Given the description of an element on the screen output the (x, y) to click on. 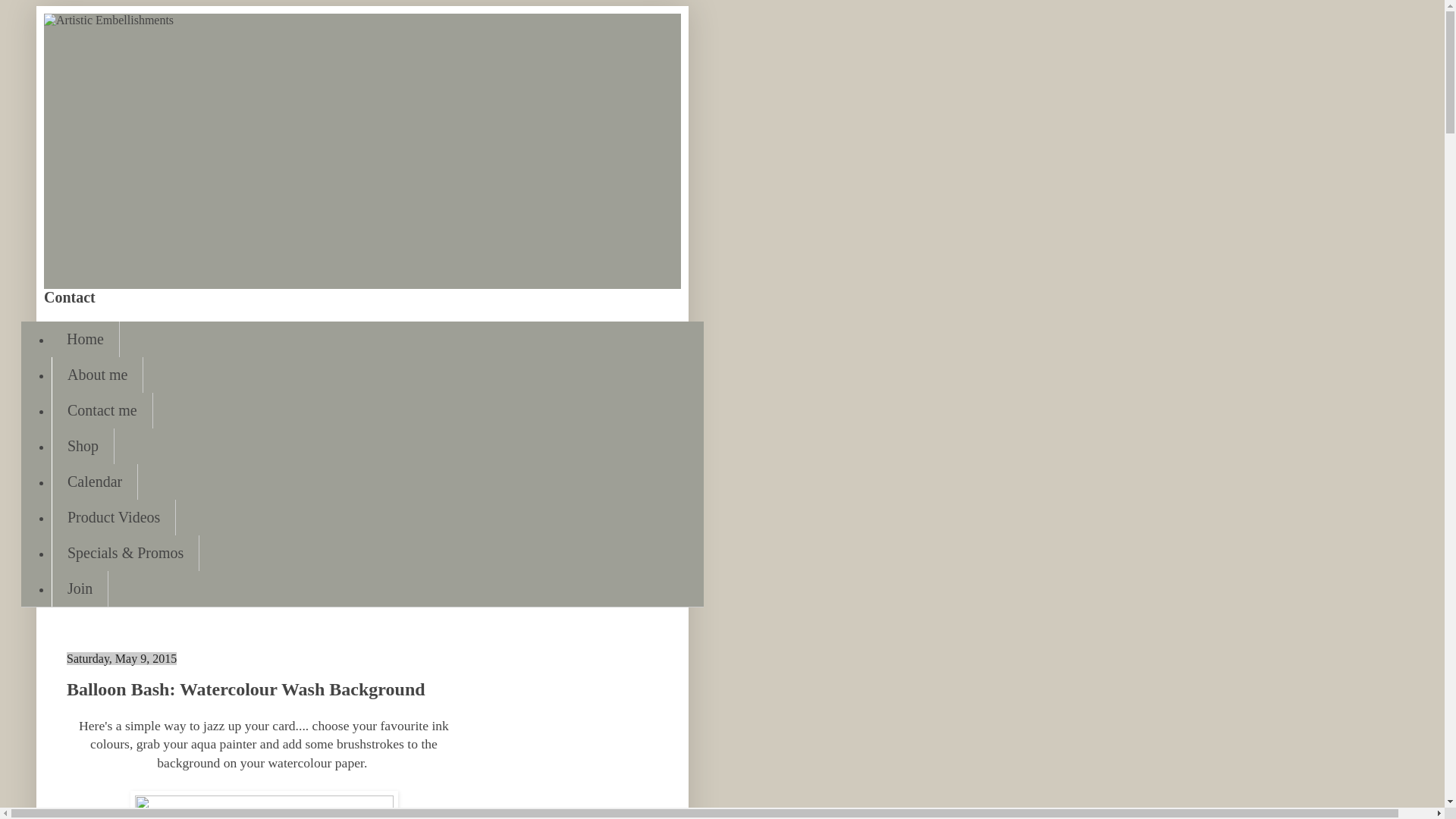
Join (78, 588)
About me (96, 375)
Calendar (94, 481)
Shop (82, 446)
Product Videos (113, 517)
Contact me (101, 410)
Home (84, 339)
